Given the description of an element on the screen output the (x, y) to click on. 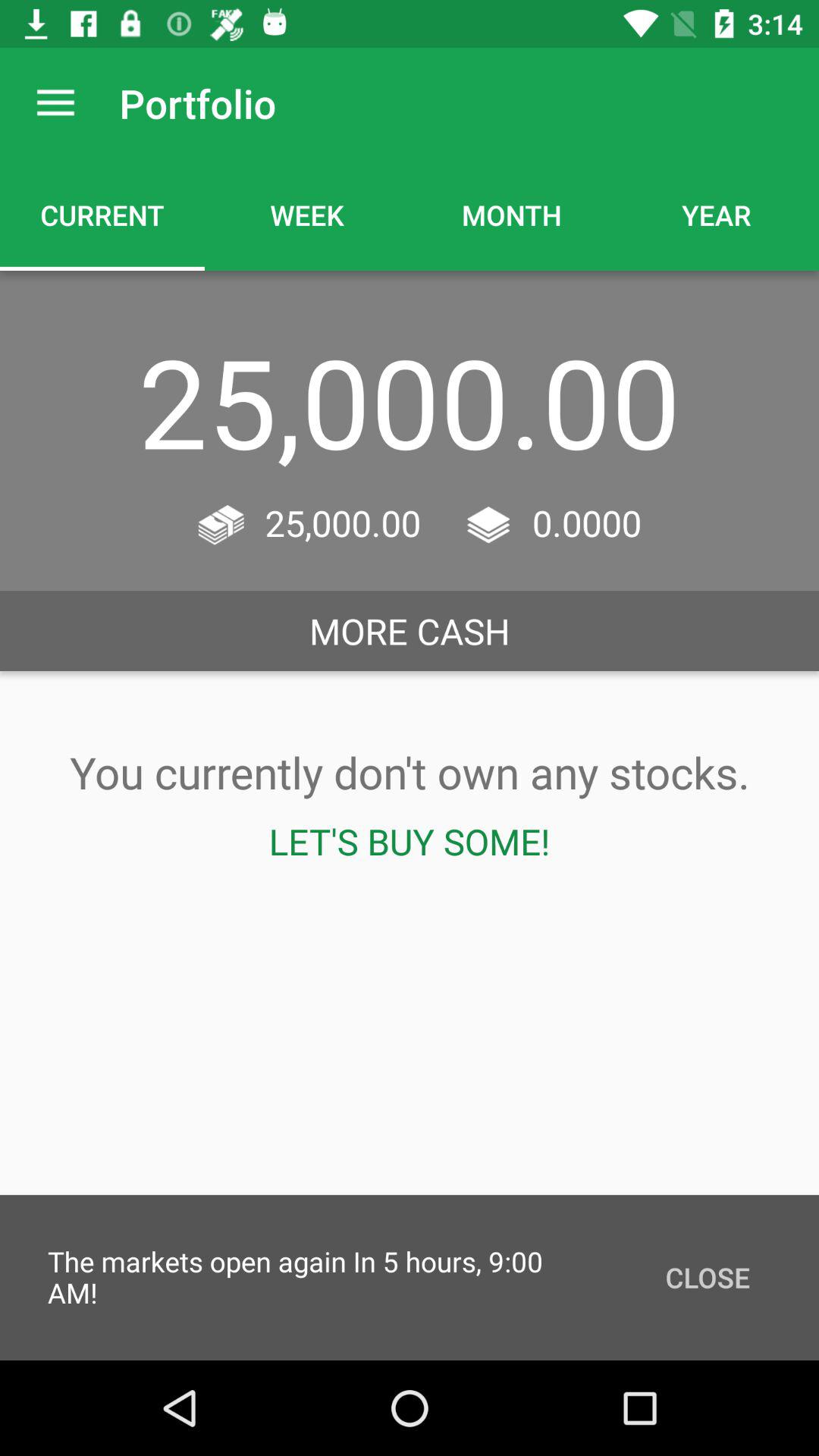
turn off the icon above current icon (55, 103)
